Given the description of an element on the screen output the (x, y) to click on. 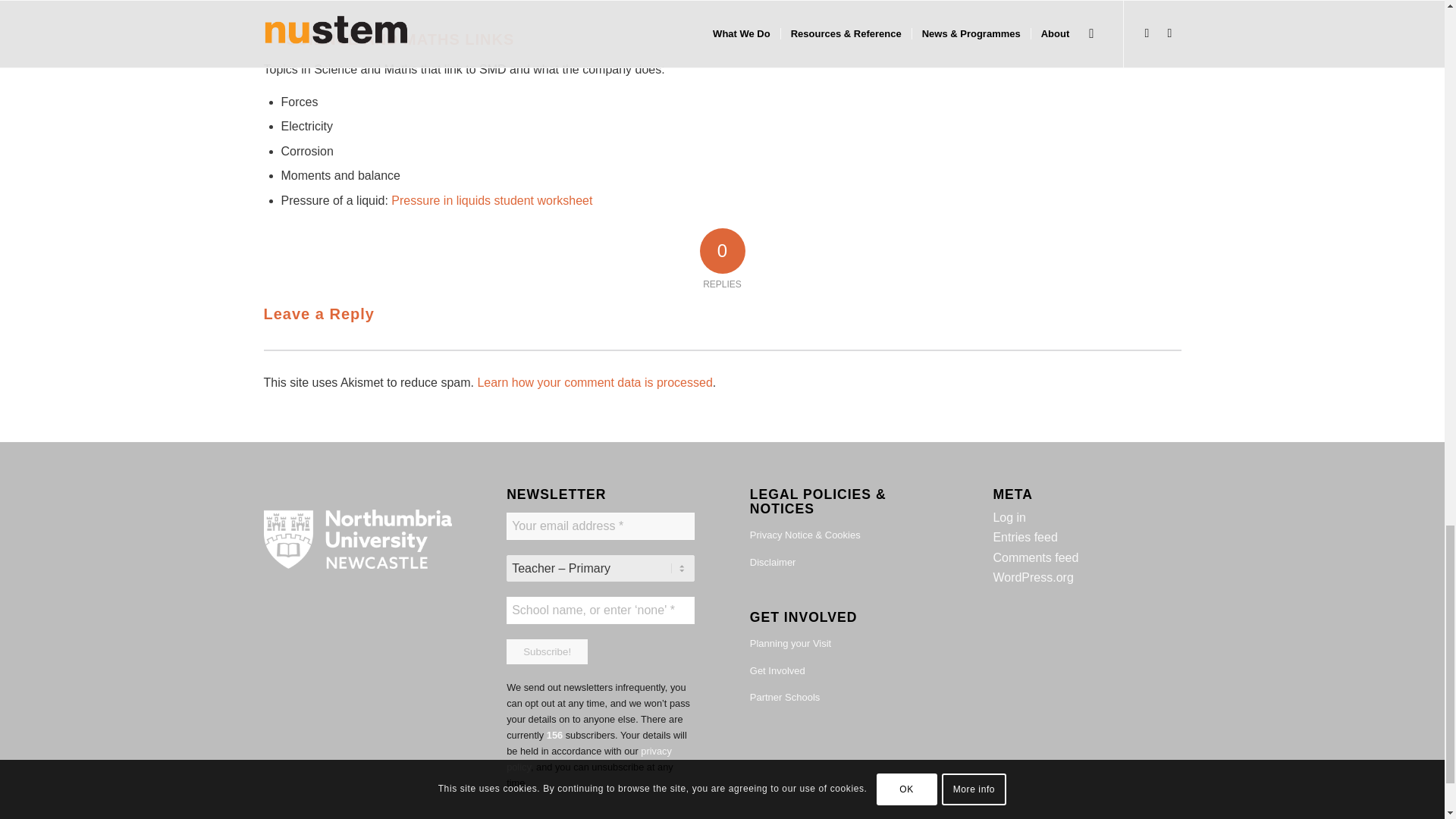
Your email address (600, 525)
Subscribe! (547, 651)
